Given the description of an element on the screen output the (x, y) to click on. 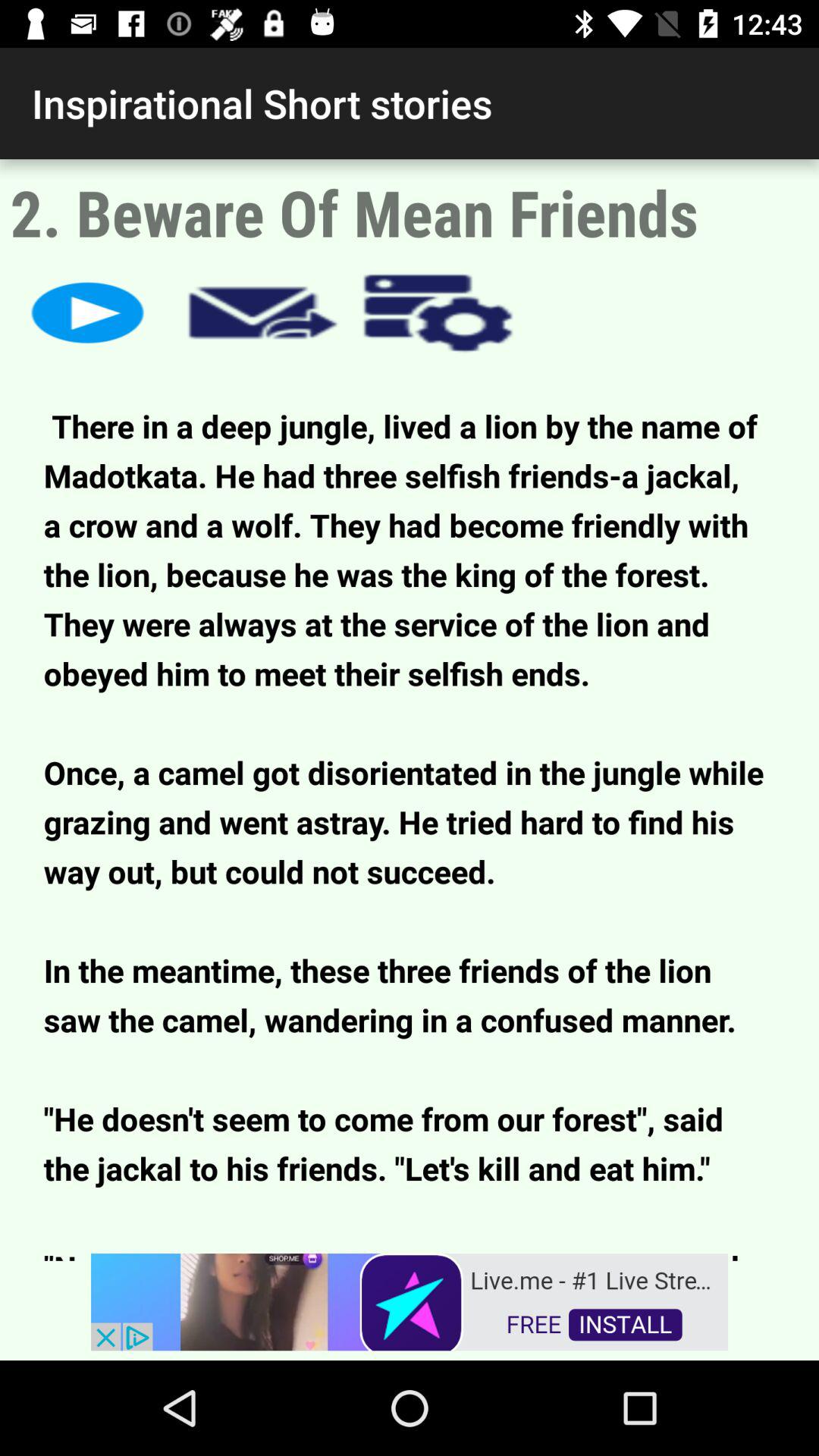
message button (262, 312)
